Given the description of an element on the screen output the (x, y) to click on. 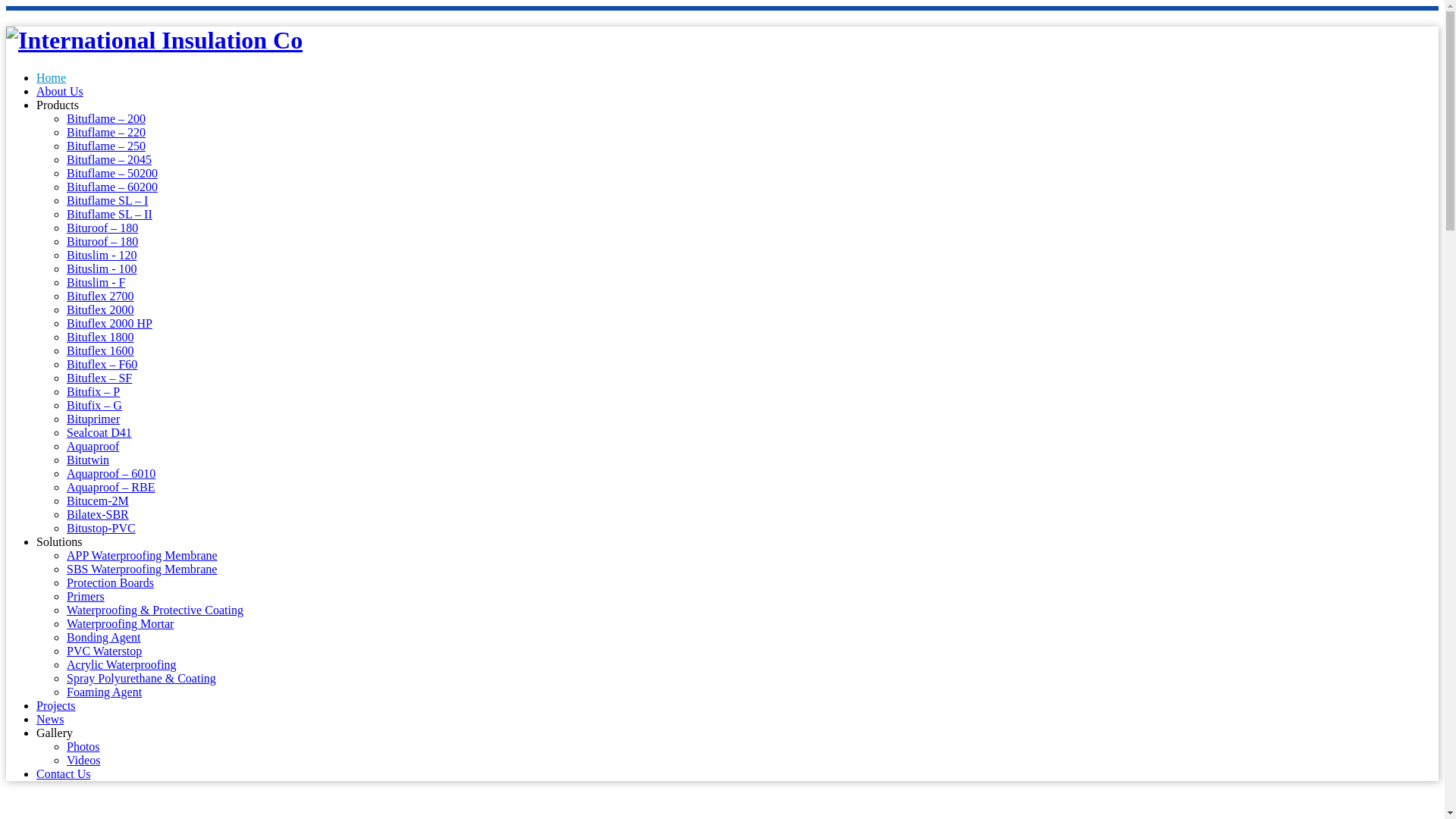
Sealcoat D41 (99, 431)
Bitutwin (87, 459)
Bituflex 2700 (99, 295)
About Us (59, 91)
Bituflex 2000 (99, 309)
Bituslim - 120 (101, 254)
International Insulation Co (153, 40)
APP Waterproofing Membrane (141, 554)
Primers (85, 595)
Home (50, 77)
